Given the description of an element on the screen output the (x, y) to click on. 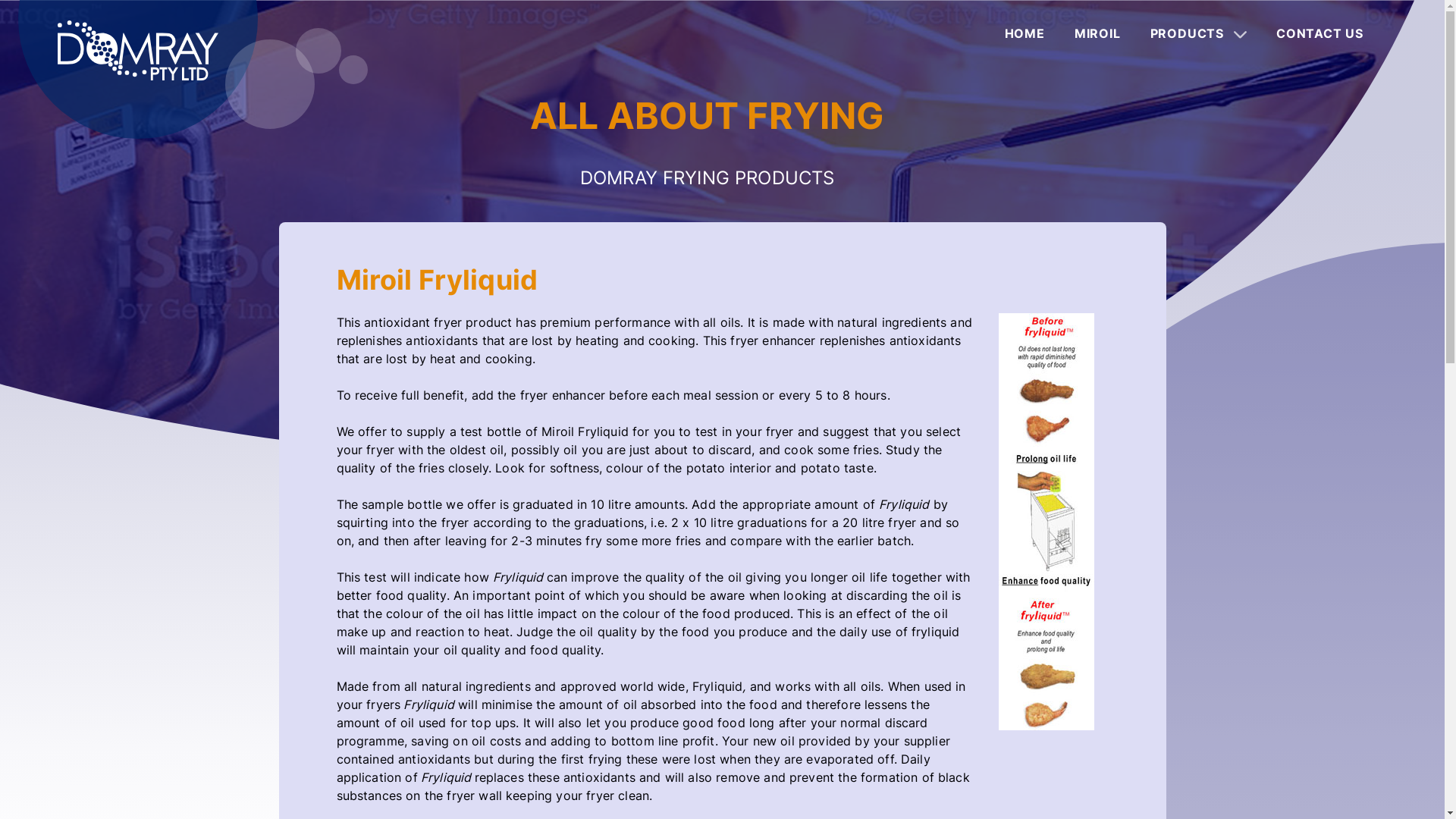
MIROIL Element type: text (1097, 33)
CONTACT US Element type: text (1319, 33)
PRODUCTS Element type: text (1198, 33)
HOME Element type: text (1024, 33)
